Given the description of an element on the screen output the (x, y) to click on. 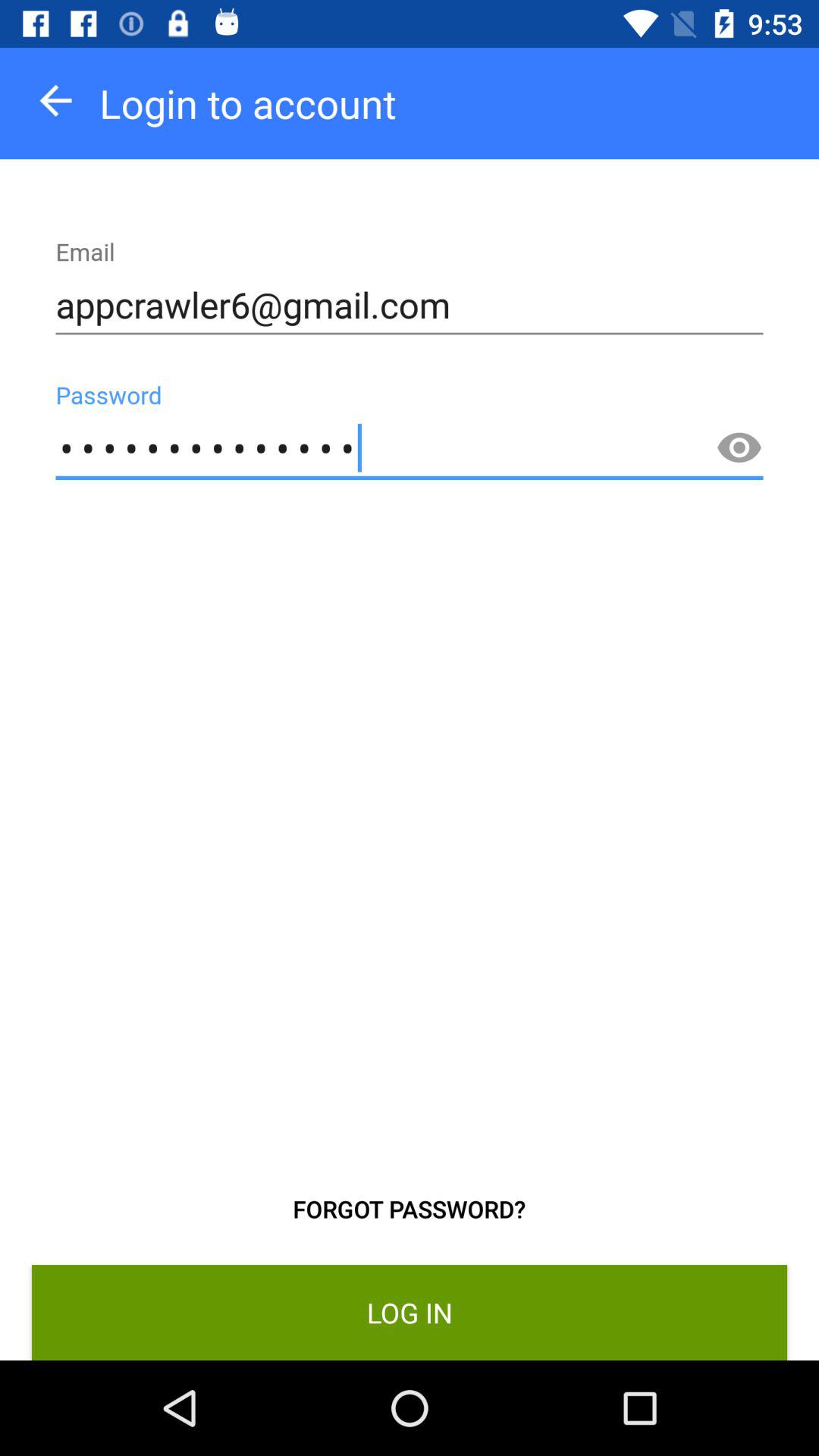
turn off the icon above the appcrawler6@gmail.com (55, 100)
